Given the description of an element on the screen output the (x, y) to click on. 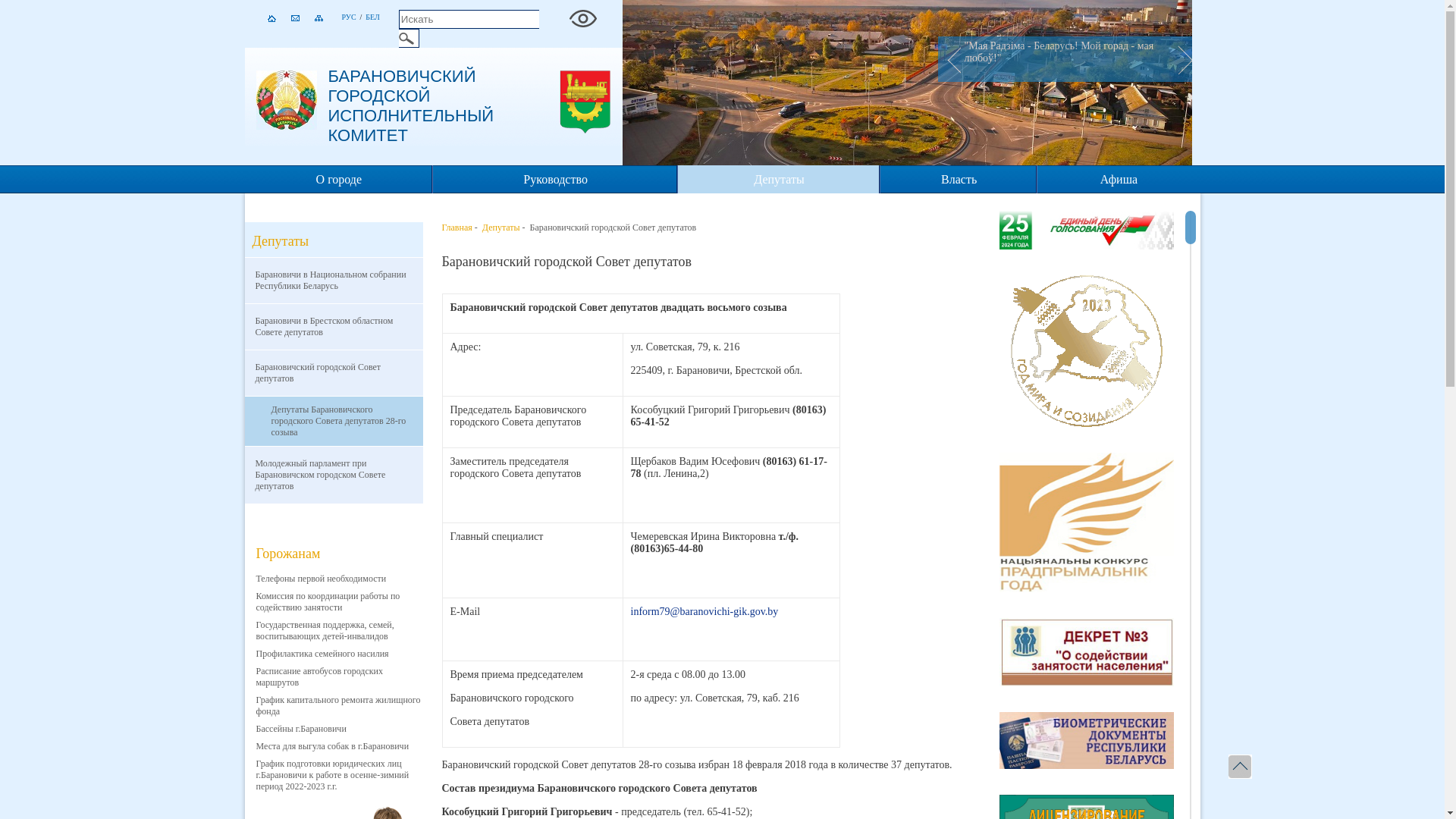
Next Element type: text (1180, 58)
Prev Element type: text (948, 58)
inform79@baranovichi-gik.gov.by Element type: text (704, 611)
